Given the description of an element on the screen output the (x, y) to click on. 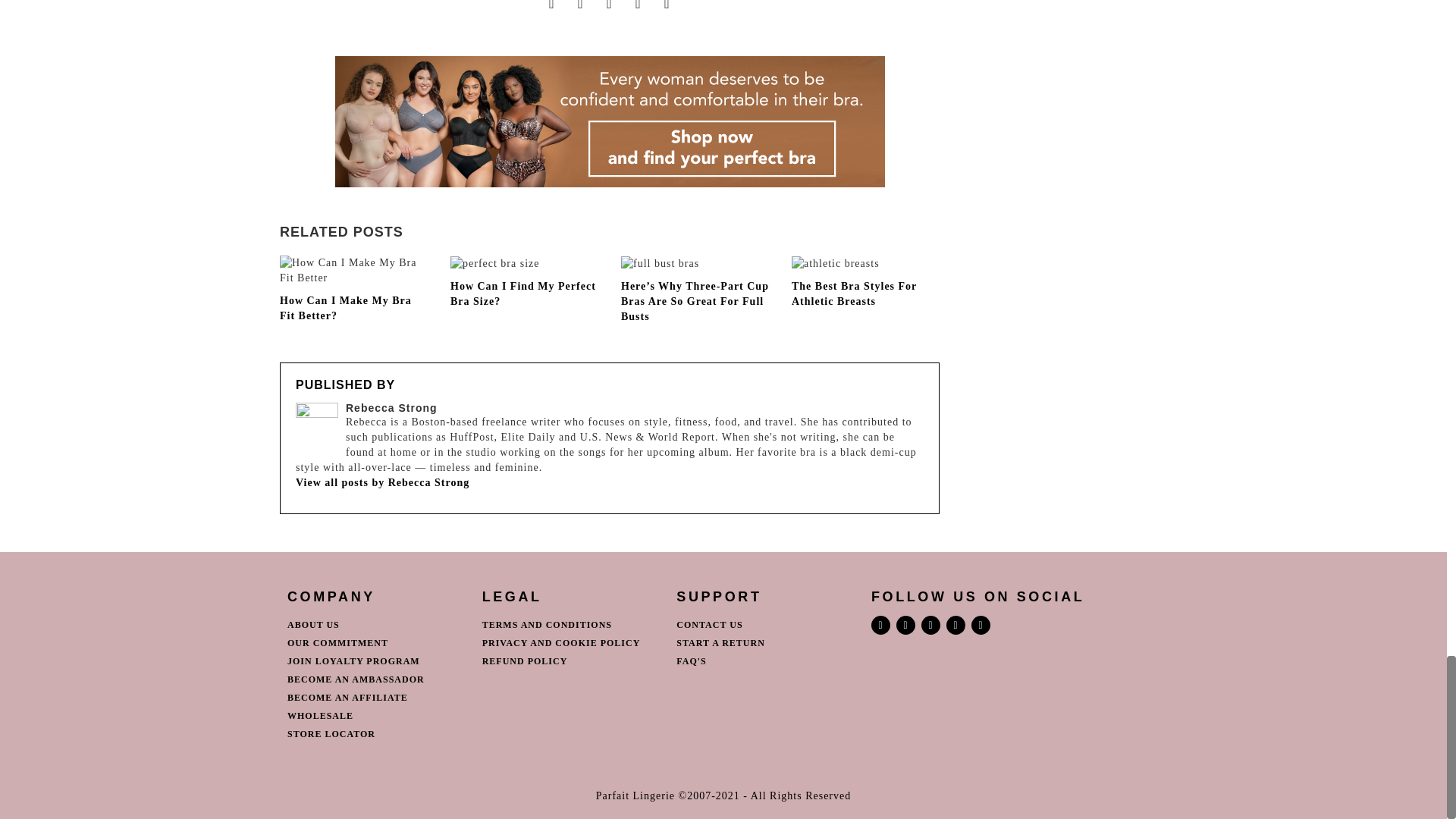
Share this post on Facebook (552, 7)
Share this post on Twitter (580, 7)
